Given the description of an element on the screen output the (x, y) to click on. 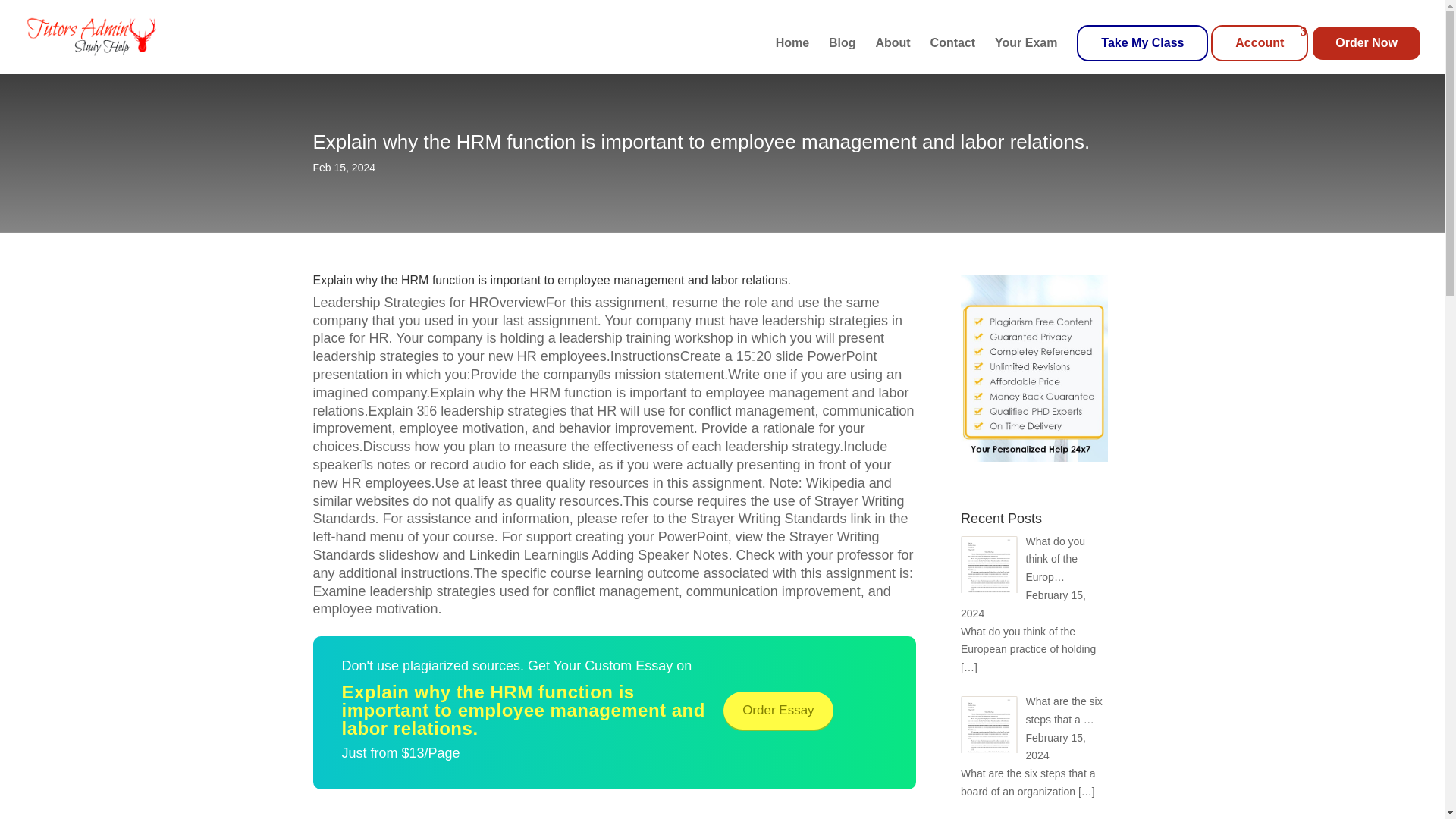
Contact (952, 55)
Order Essay (777, 710)
Account (1259, 42)
Order Now (1367, 42)
About (892, 55)
Your Exam (1025, 55)
Home (792, 55)
Take My Class (1142, 42)
